Given the description of an element on the screen output the (x, y) to click on. 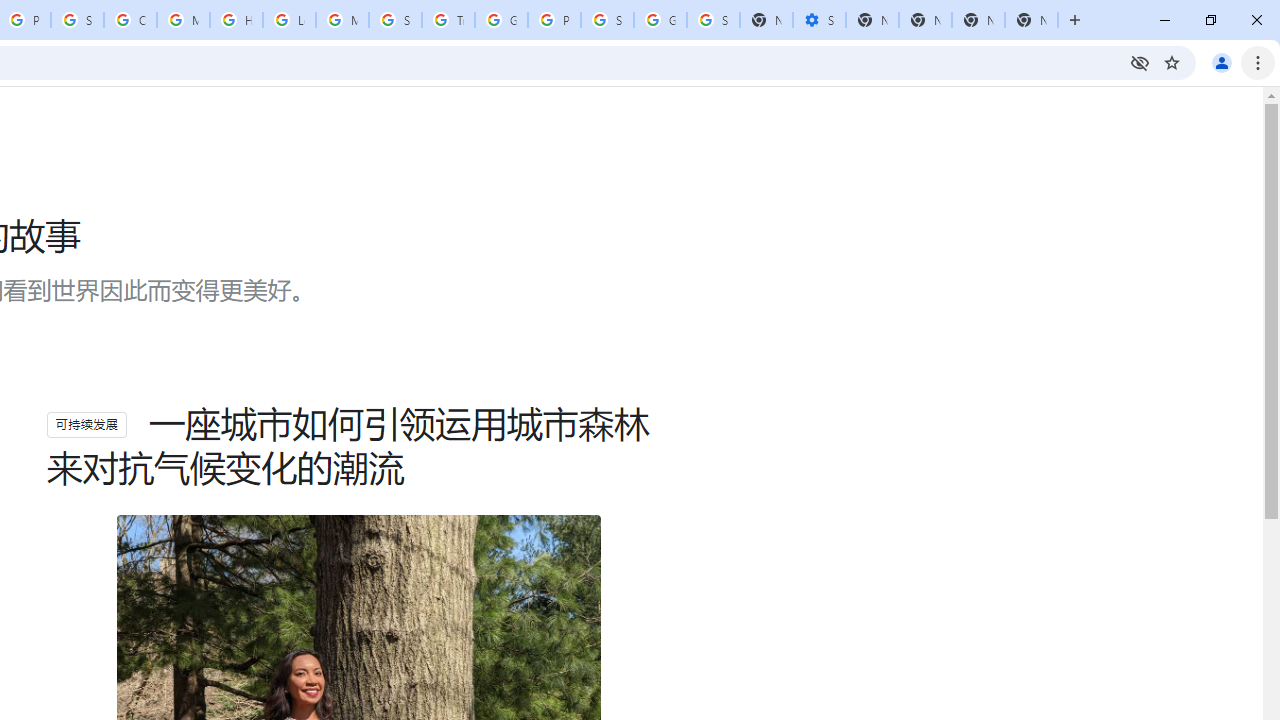
Google Cybersecurity Innovations - Google Safety Center (660, 20)
Sign in - Google Accounts (713, 20)
Sign in - Google Accounts (607, 20)
Settings - Performance (819, 20)
Google Ads - Sign in (501, 20)
